Given the description of an element on the screen output the (x, y) to click on. 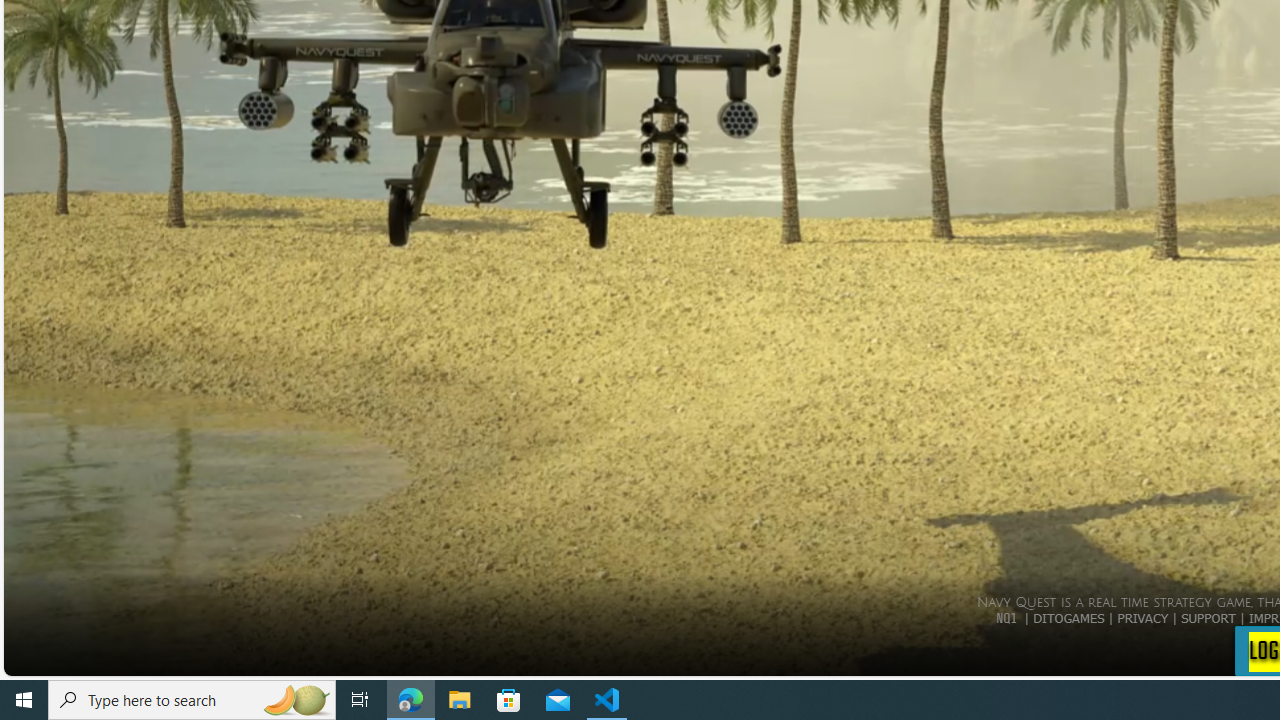
SUPPORT (1208, 617)
PRIVACY (1142, 617)
